Given the description of an element on the screen output the (x, y) to click on. 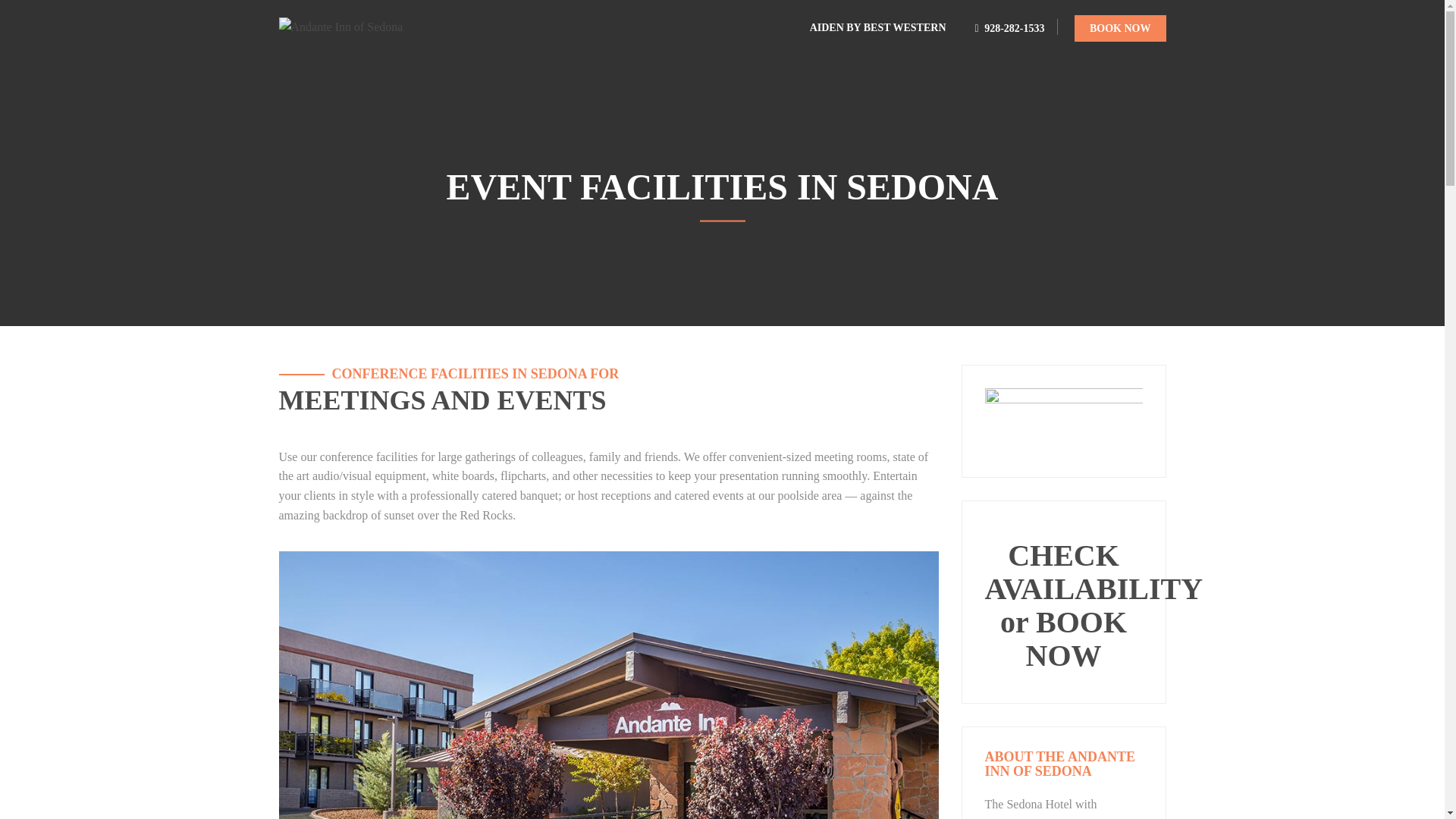
CHECK AVAILABILITY or BOOK NOW (1093, 605)
AIDEN BY BEST WESTERN (877, 26)
BOOK NOW (1120, 28)
Andante Inn of Sedona - Sedona Hotel (365, 26)
928-282-1533 (1010, 28)
